Given the description of an element on the screen output the (x, y) to click on. 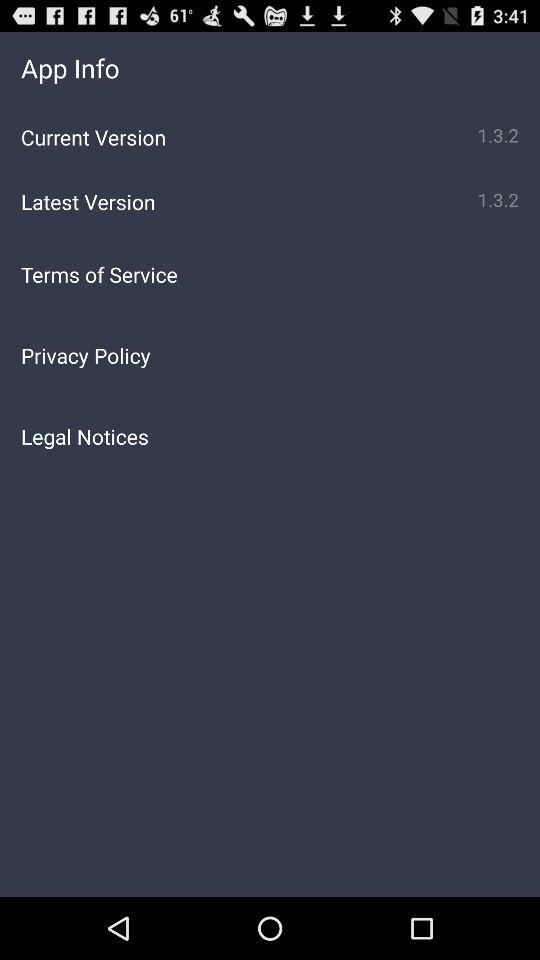
select the app below the privacy policy (270, 435)
